Given the description of an element on the screen output the (x, y) to click on. 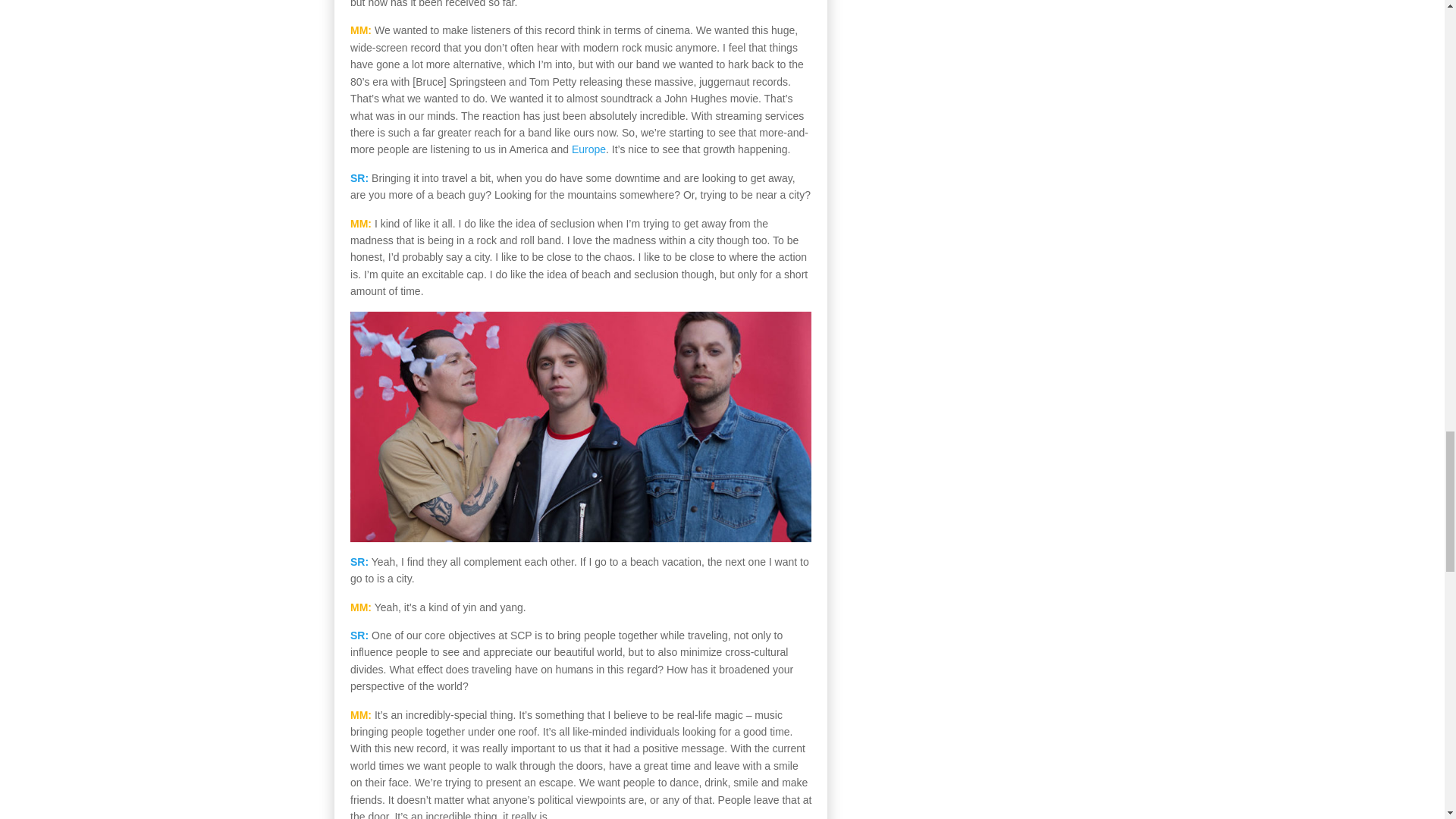
SR: (359, 562)
MM: (360, 223)
SR: (359, 177)
Europe (588, 149)
MM: (360, 607)
MM: (360, 30)
